Given the description of an element on the screen output the (x, y) to click on. 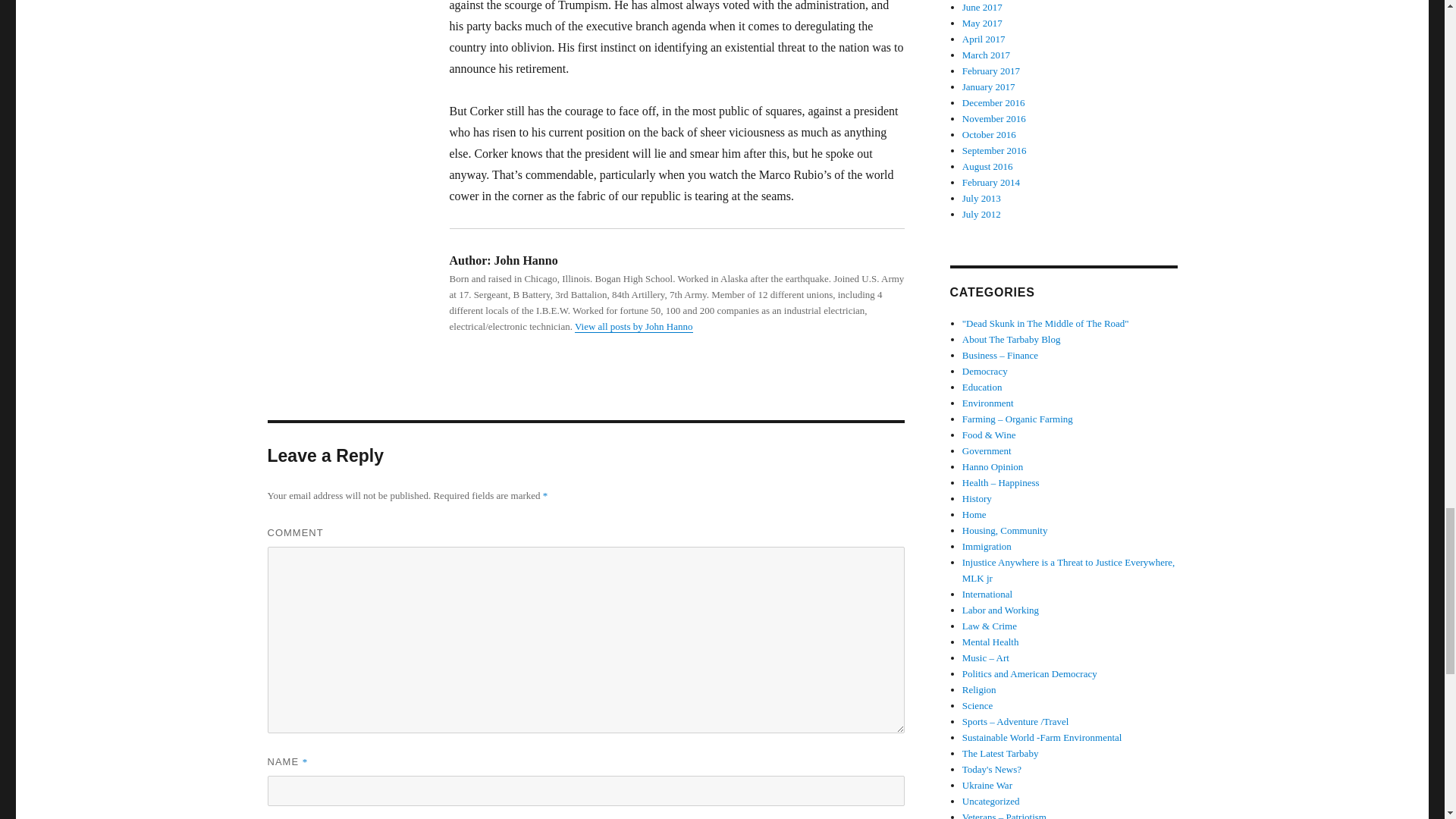
Issues and events that stink to high heaven (1045, 323)
Stories of injustice and justice (1068, 569)
Presenting another Tarbaby (1000, 753)
Read about the origins of this Tarbaby Blog (1011, 338)
View all posts by John Hanno (634, 326)
